Given the description of an element on the screen output the (x, y) to click on. 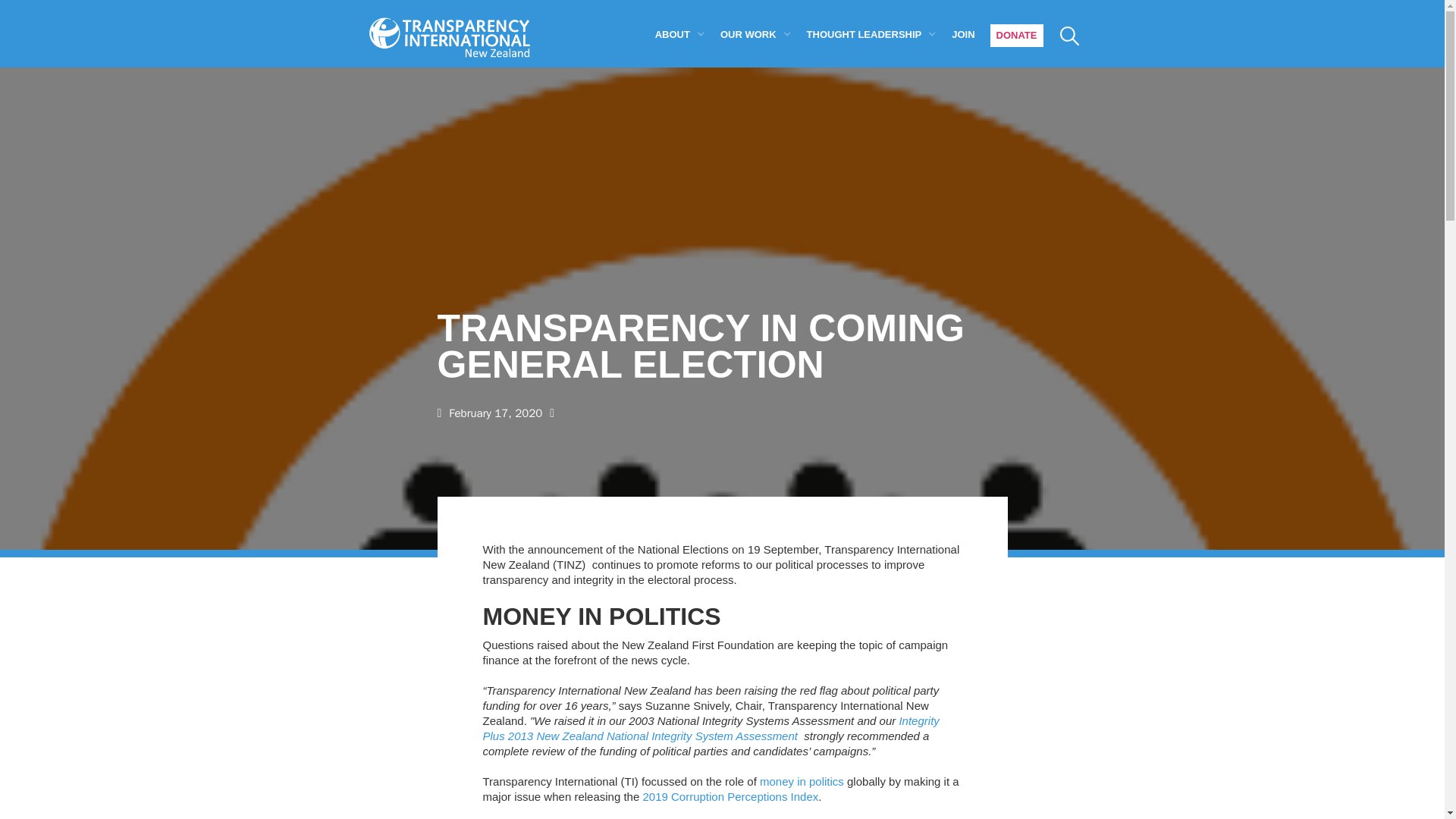
DONATE (1016, 35)
ABOUT (672, 34)
2019 Corruption Perceptions Index (730, 796)
THOUGHT LEADERSHIP (863, 34)
money in politics (802, 780)
OUR WORK (748, 34)
